Given the description of an element on the screen output the (x, y) to click on. 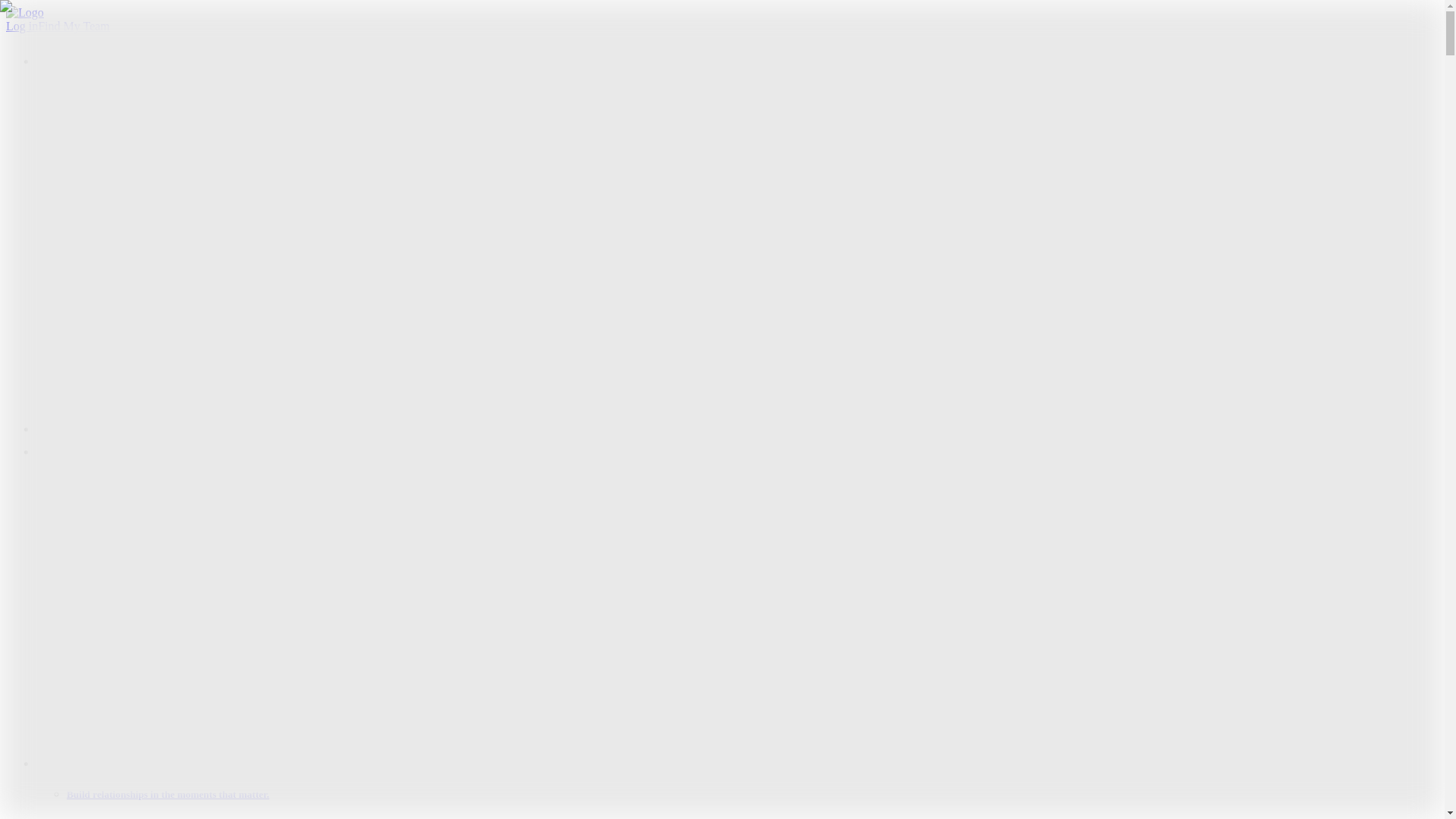
TeamSnap Updates (143, 640)
Find My Team (73, 25)
SponsorshipAccess our network of opportunities (215, 305)
Blog (108, 599)
About (112, 712)
Get started!Chat with our team right now (197, 414)
Help Center (126, 653)
Careers (115, 726)
RegistrationPayments, dues, and more (190, 318)
For Business Resources (154, 626)
